Given the description of an element on the screen output the (x, y) to click on. 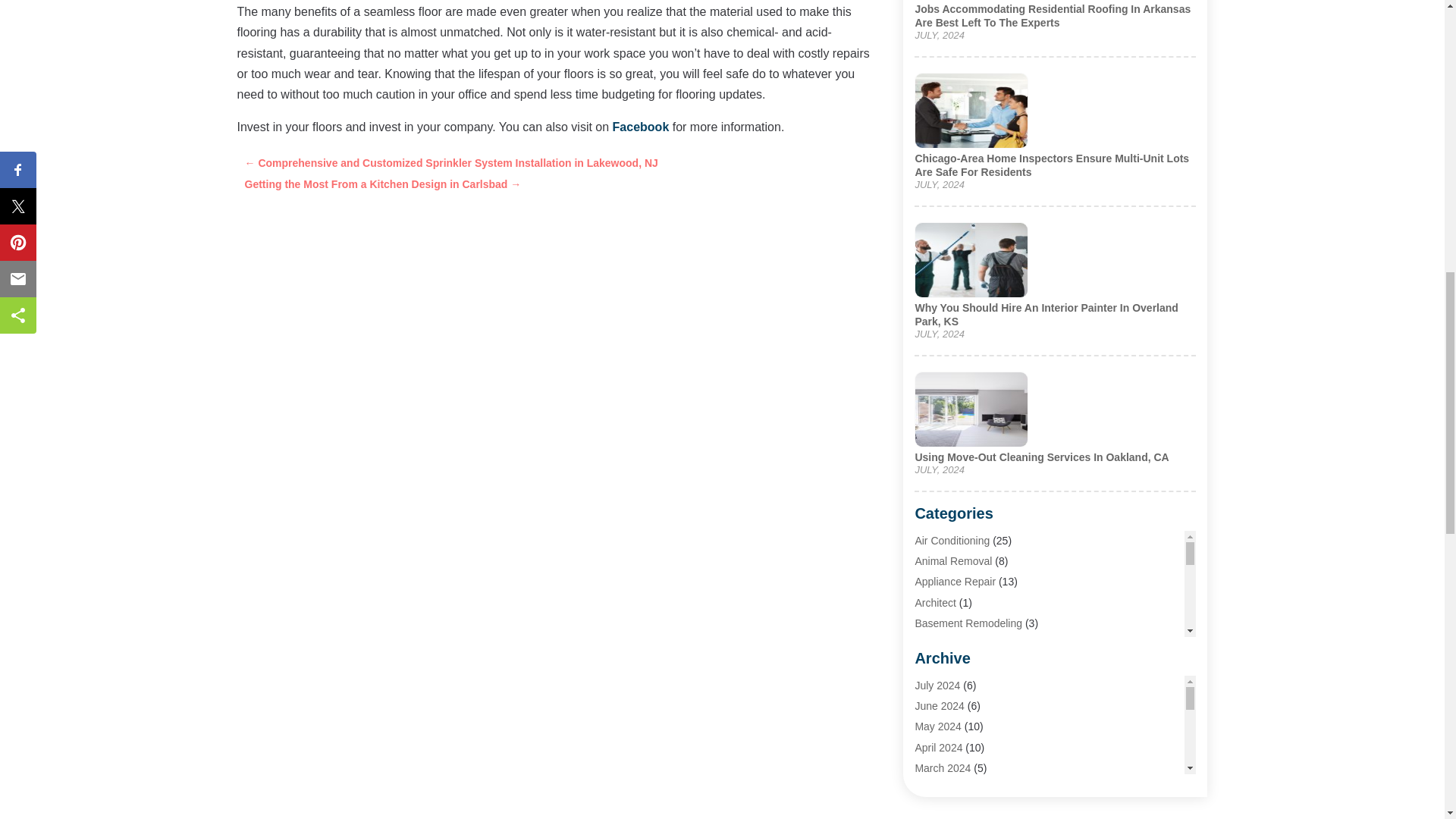
Chimney (935, 808)
Carpet Cleaning Service (971, 767)
Animal Removal (952, 561)
Carpenter (937, 705)
Using Move-Out Cleaning Services In Oakland, CA (1041, 457)
Basement Remodeling (968, 623)
Carpets (933, 787)
Appliance Repair (954, 581)
Blind (925, 664)
Business (936, 684)
Why You Should Hire An Interior Painter In Overland Park, KS (1045, 314)
Facebook (640, 126)
Carpet And Floor Cleaners (977, 746)
